Given the description of an element on the screen output the (x, y) to click on. 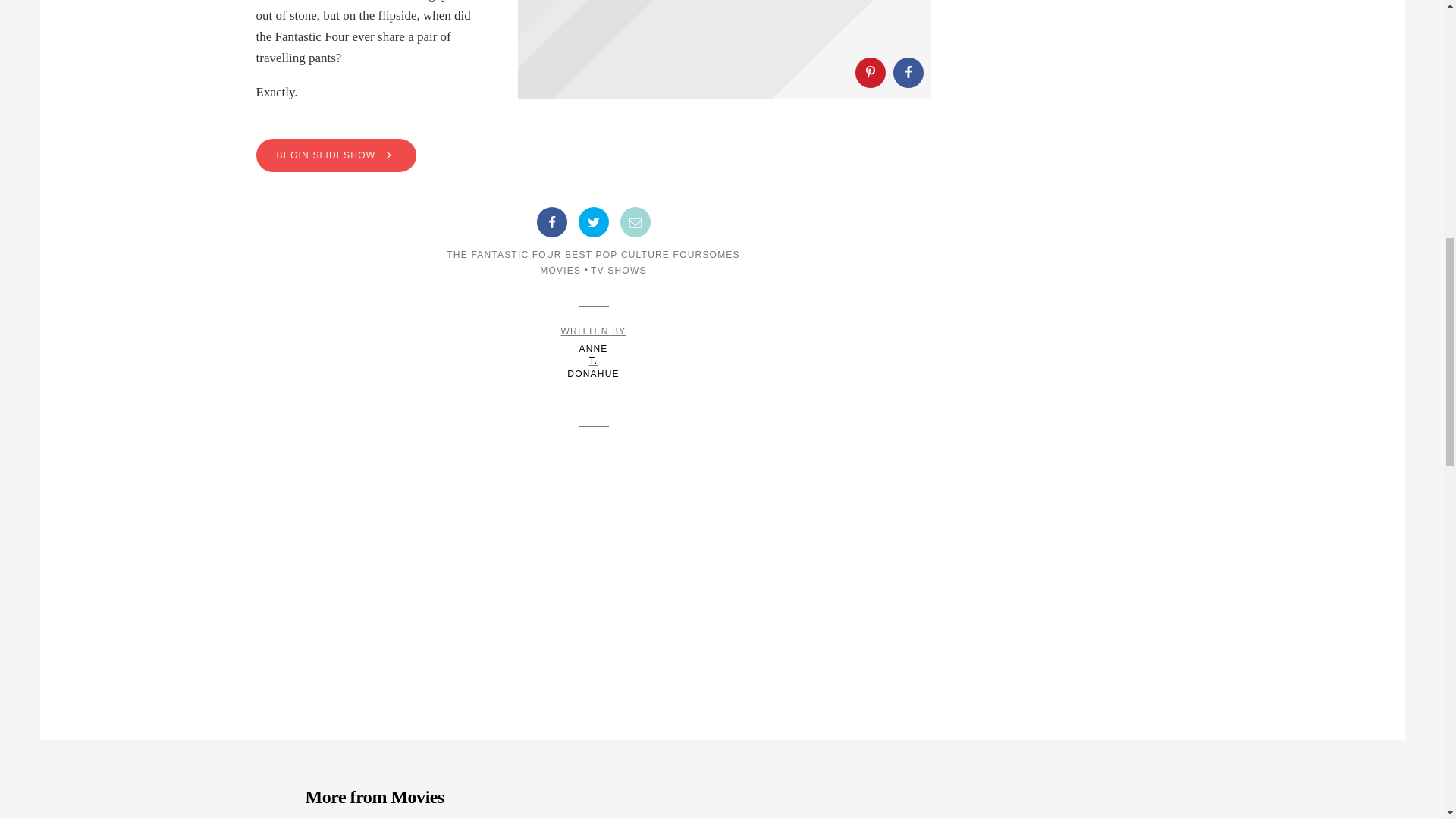
BEGIN SLIDESHOW (593, 154)
Share by Email (635, 222)
MOVIES (560, 270)
Share on Pinterest (870, 72)
Share on Twitter (593, 222)
BEGIN SLIDESHOW (336, 154)
TV SHOWS (618, 270)
